Given the description of an element on the screen output the (x, y) to click on. 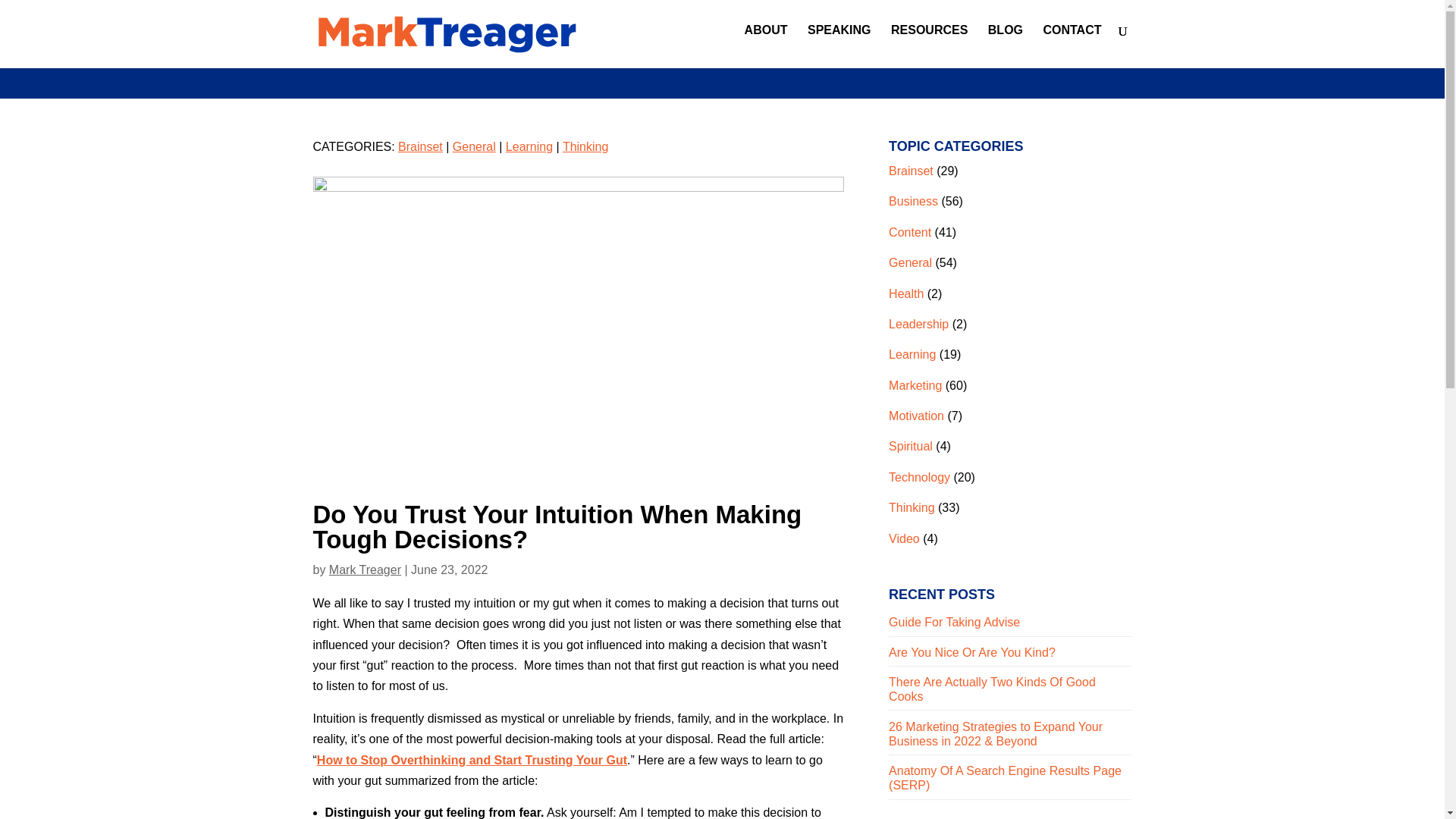
Technology (919, 477)
CONTACT (1071, 42)
ABOUT (765, 42)
General (909, 262)
Health (905, 292)
Motivation (915, 415)
Spiritual (910, 445)
Brainset (419, 146)
Content (909, 232)
Leadership (918, 323)
Thinking (585, 146)
BLOG (1005, 42)
How to Stop Overthinking and Start Trusting Your Gut (472, 759)
Guide For Taking Advise (954, 621)
Are You Nice Or Are You Kind? (971, 652)
